Given the description of an element on the screen output the (x, y) to click on. 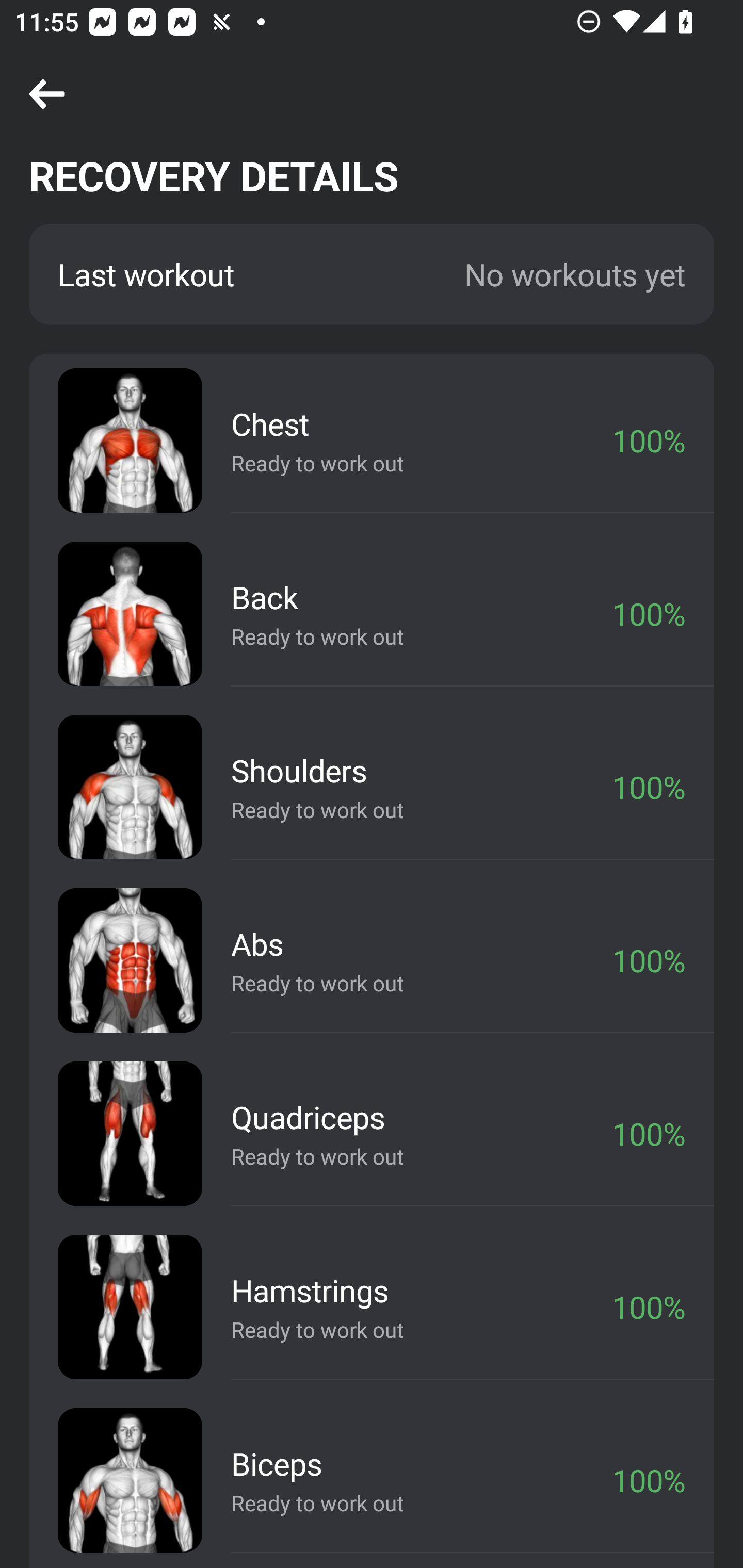
Navigation icon (46, 94)
